Given the description of an element on the screen output the (x, y) to click on. 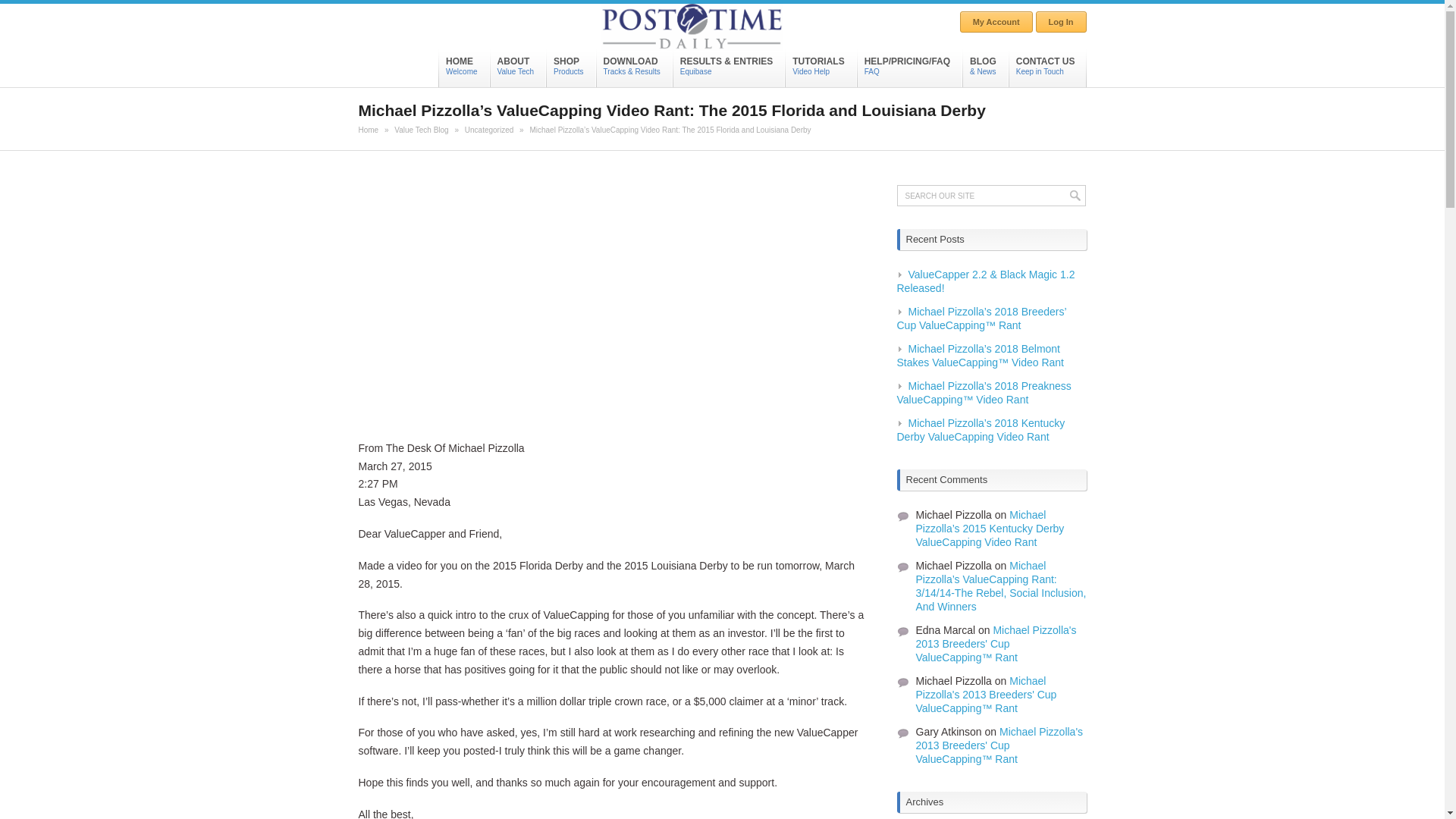
My Account (570, 65)
Uncategorized (995, 21)
Uncategorized (488, 130)
Home (488, 130)
Log In (463, 65)
SEARCH OUR SITE (368, 130)
Value Tech Blog (1060, 21)
